Given the description of an element on the screen output the (x, y) to click on. 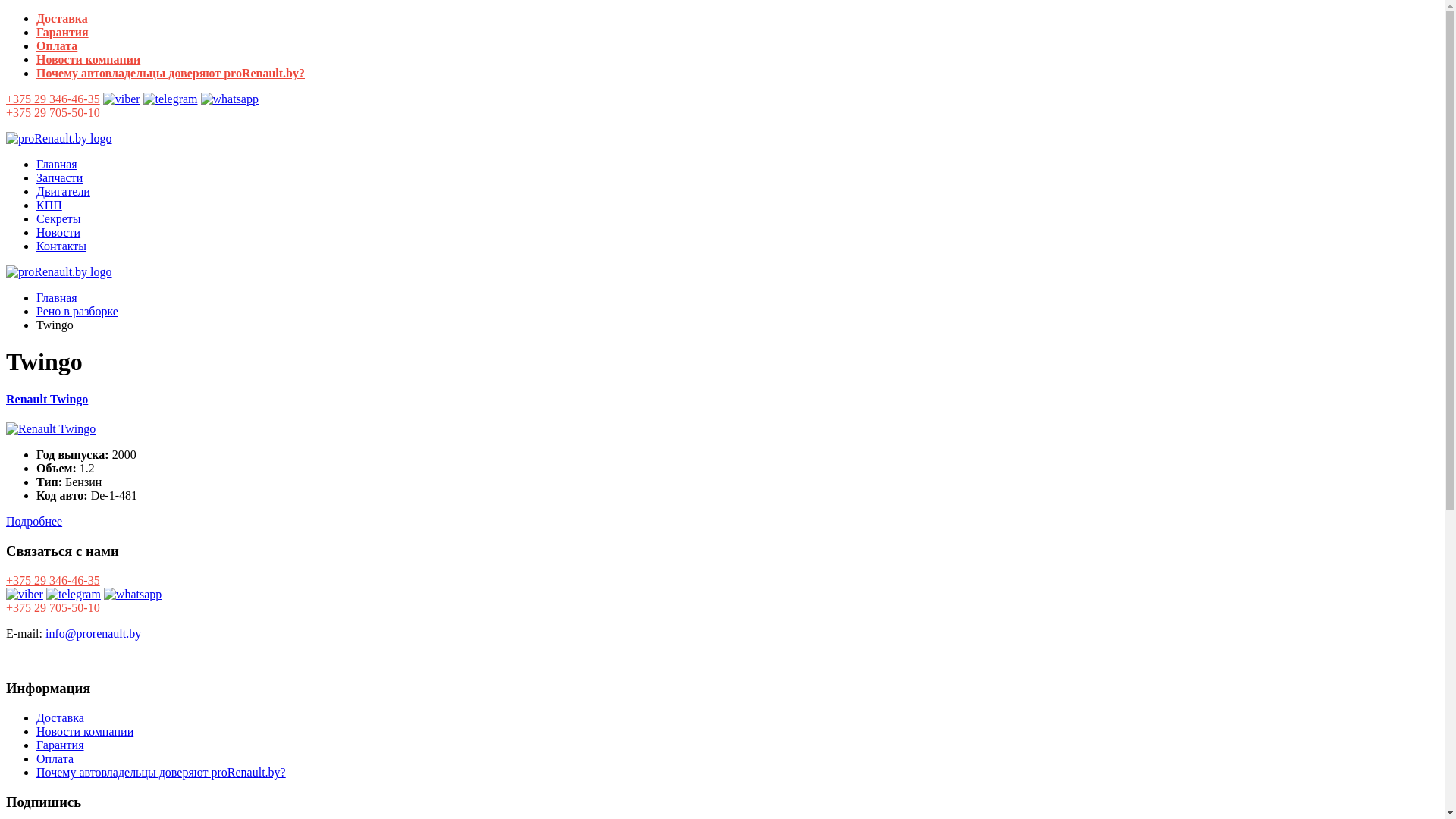
Renault Twingo Element type: text (46, 398)
WhatsApp Element type: hover (132, 593)
Telegram Element type: hover (170, 98)
info@prorenault.by Element type: text (93, 633)
Renault Twingo Element type: hover (50, 429)
Telegram Element type: hover (73, 593)
Renault Twingo Element type: hover (50, 428)
+375 29 346-46-35 Element type: text (53, 580)
+375 29 705-50-10 Element type: text (53, 112)
WhatsApp Element type: hover (229, 98)
+375 29 705-50-10 Element type: text (53, 607)
+375 29 346-46-35 Element type: text (53, 98)
